Given the description of an element on the screen output the (x, y) to click on. 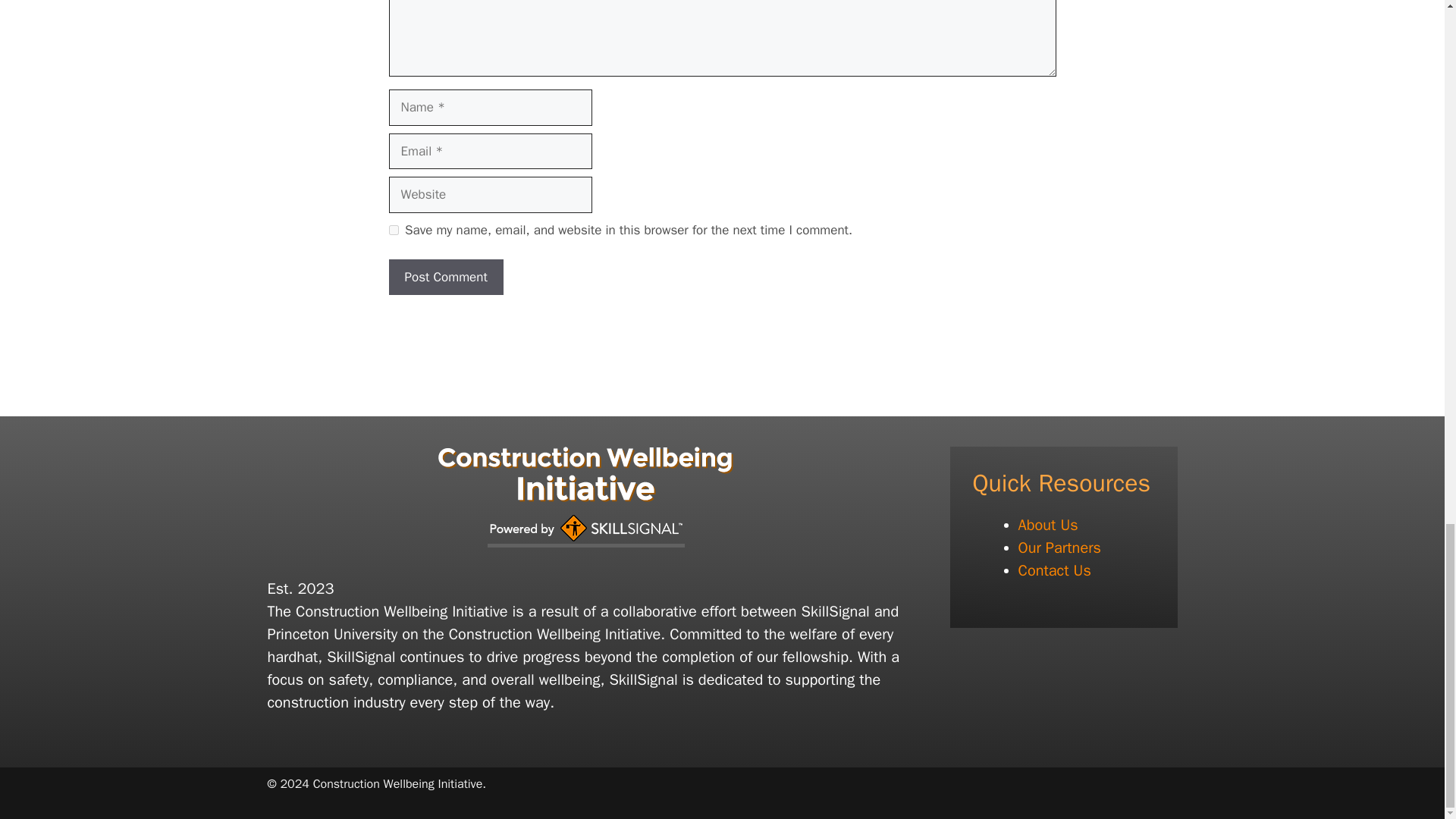
Post Comment (445, 277)
Contact Us (1053, 570)
Our Partners (1058, 547)
logo (585, 474)
About Us (1047, 524)
yes (392, 230)
powered-by-skillsignal-dark (585, 530)
Post Comment (445, 277)
Scroll back to top (1406, 60)
